Given the description of an element on the screen output the (x, y) to click on. 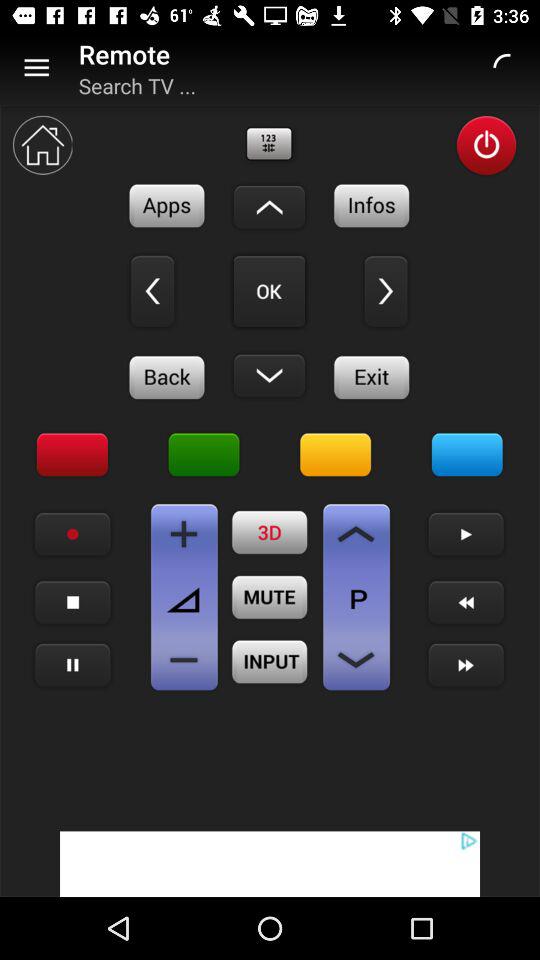
see apps on remote (167, 205)
